Given the description of an element on the screen output the (x, y) to click on. 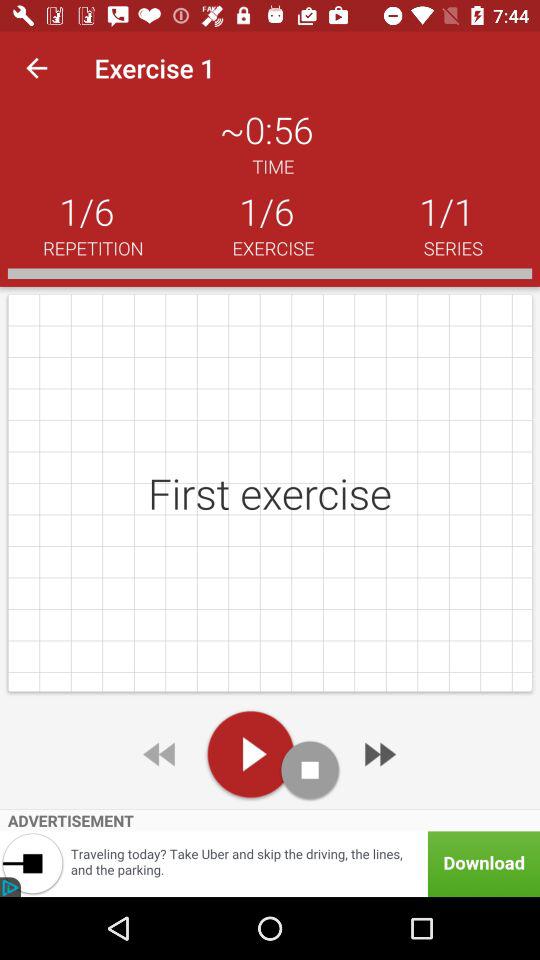
stop audio file (309, 769)
